Given the description of an element on the screen output the (x, y) to click on. 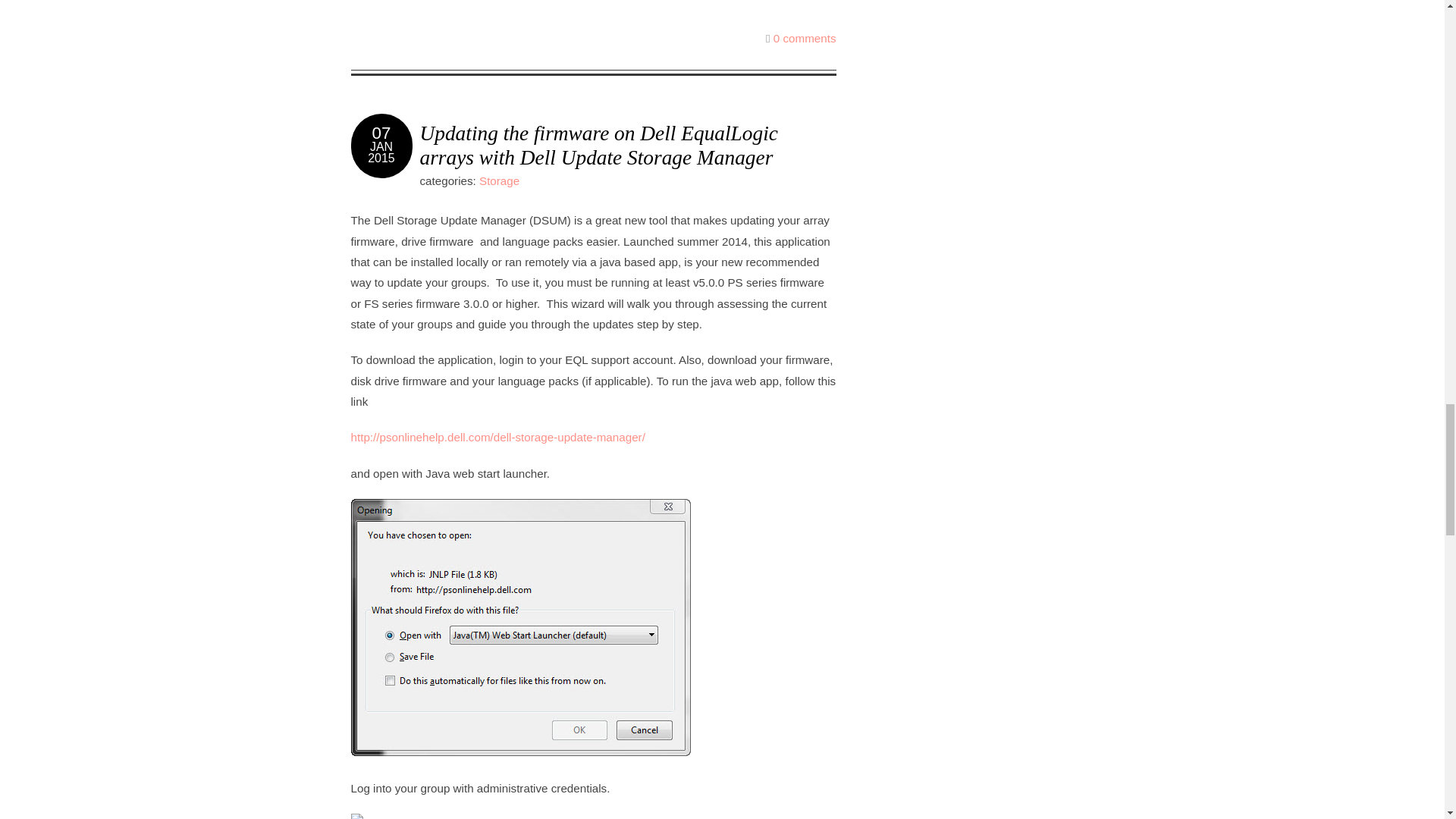
07 (381, 132)
Storage (499, 180)
0 comments (804, 38)
